Given the description of an element on the screen output the (x, y) to click on. 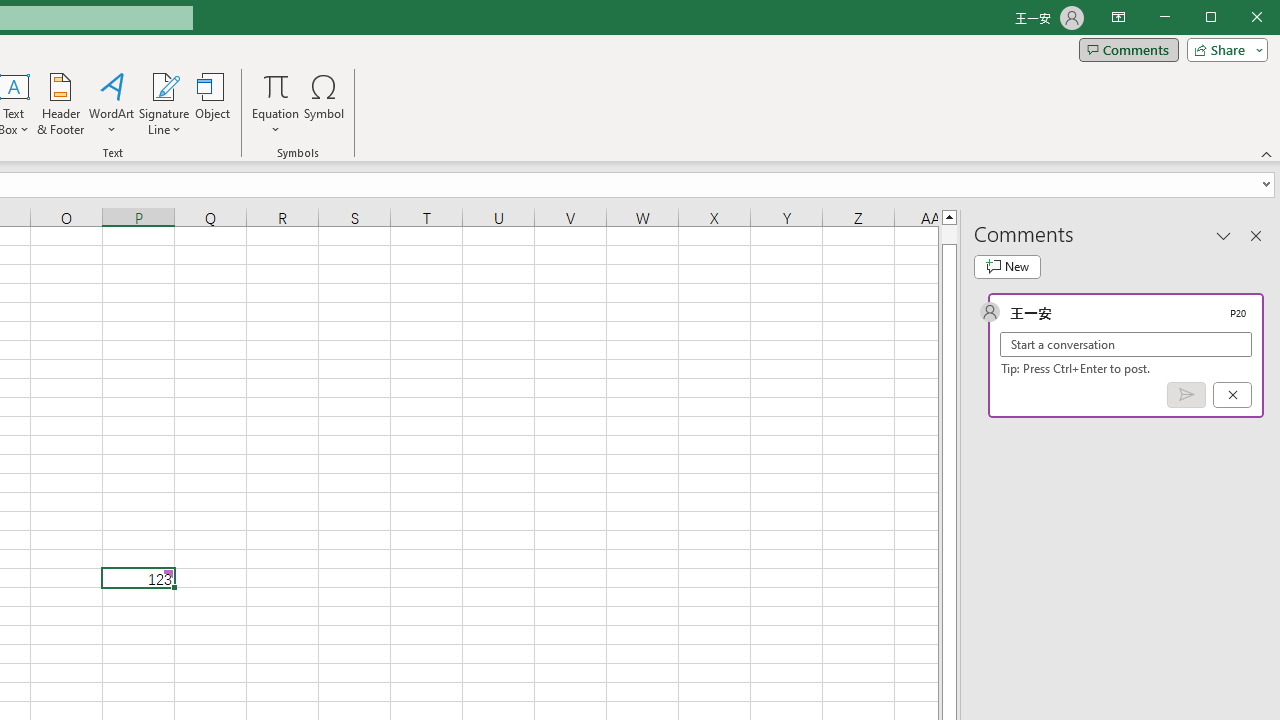
Object... (213, 104)
Header & Footer... (60, 104)
Equation (275, 86)
Start a conversation (1126, 344)
Symbol... (324, 104)
Maximize (1239, 18)
Post comment (Ctrl + Enter) (1186, 395)
Equation (275, 104)
